Given the description of an element on the screen output the (x, y) to click on. 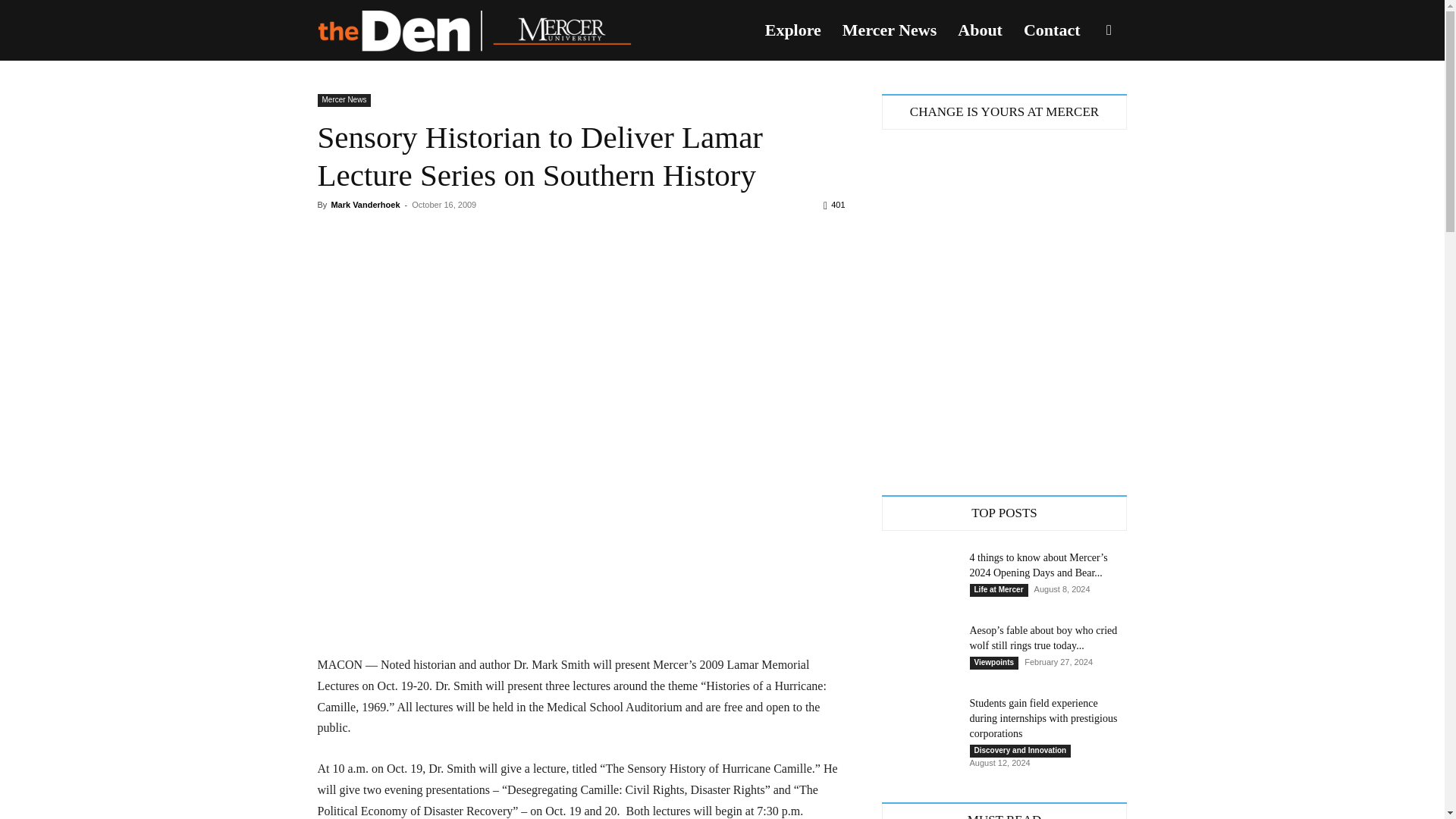
Mark Vanderhoek (364, 204)
Mercer News (344, 100)
Explore (792, 30)
About (980, 30)
The Den (473, 30)
Search (1085, 102)
Mercer News (889, 30)
Contact (1051, 30)
